Given the description of an element on the screen output the (x, y) to click on. 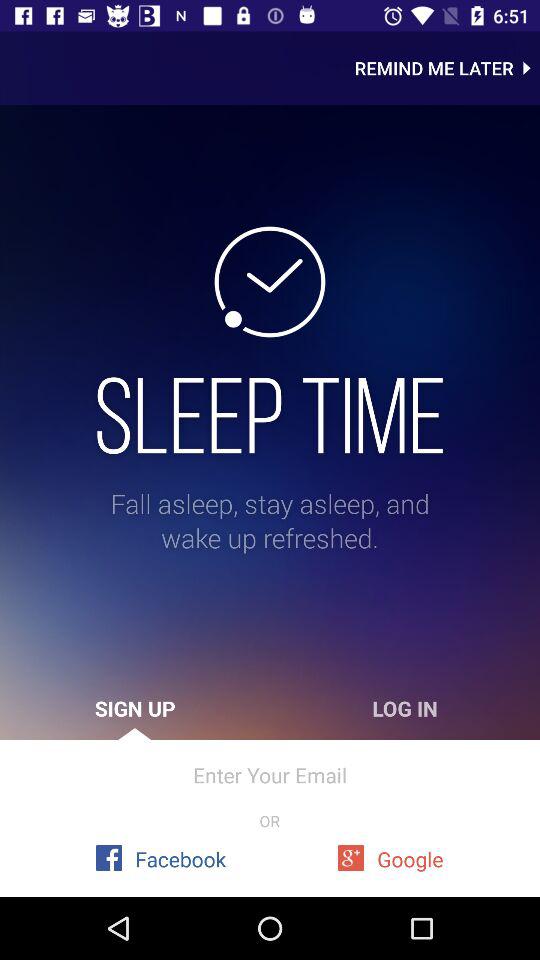
choose icon above the sleep time (447, 67)
